Given the description of an element on the screen output the (x, y) to click on. 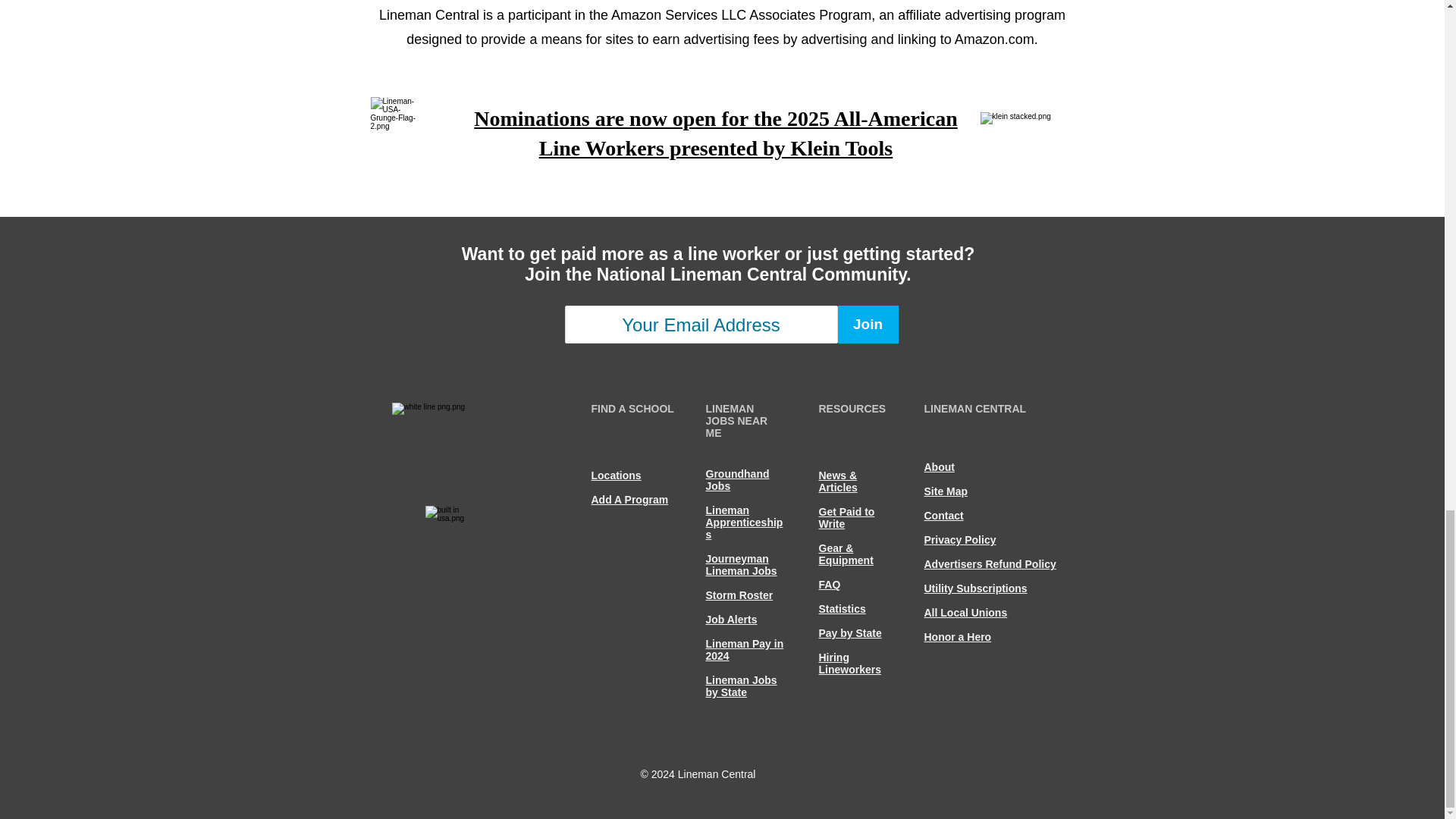
Locations (616, 475)
FAQ (829, 584)
Pay by State (850, 633)
Lineman Pay in 2024 (743, 649)
Get Paid to Write (846, 517)
Lineman Apprenticeships (743, 522)
Add A Program (629, 499)
Journeyman Lineman Jobs (740, 564)
Twitter Follow (387, 734)
